Given the description of an element on the screen output the (x, y) to click on. 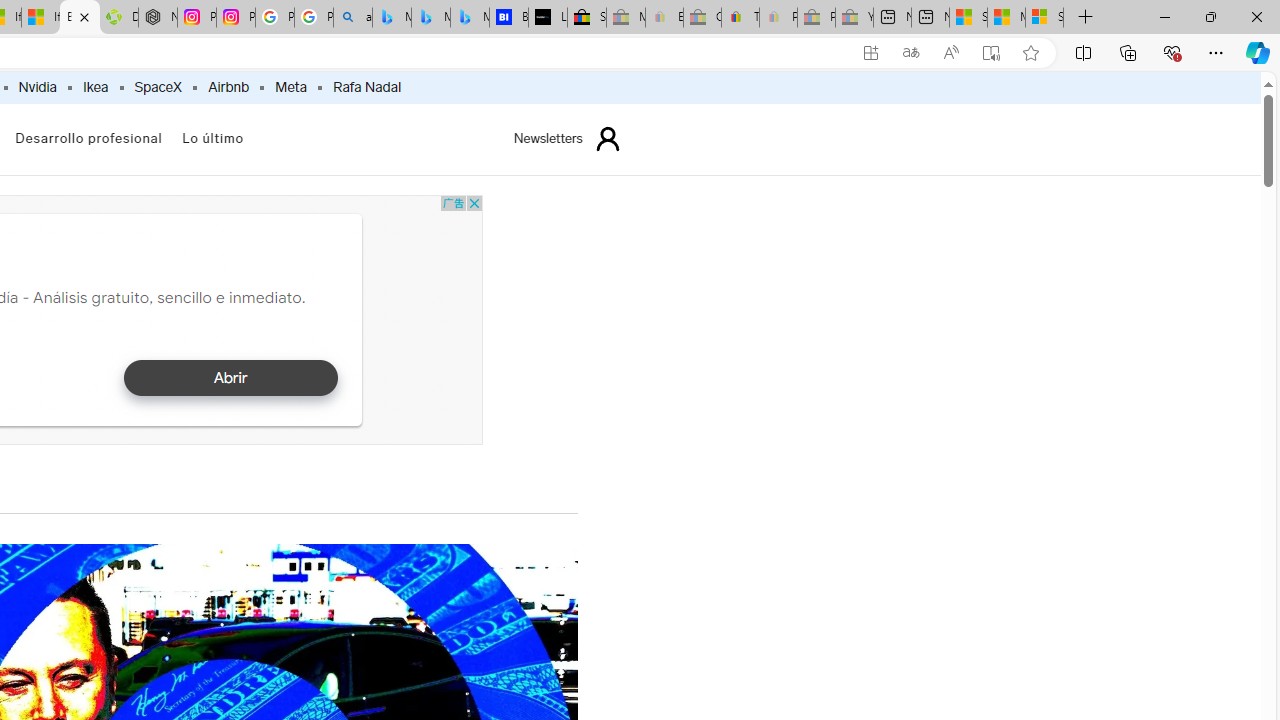
SpaceX (157, 88)
Rafa Nadal (367, 88)
Airbnb (227, 88)
Meta (291, 88)
Ikea (94, 88)
Payments Terms of Use | eBay.com - Sleeping (778, 17)
Press Room - eBay Inc. - Sleeping (815, 17)
Ikea (95, 88)
